Given the description of an element on the screen output the (x, y) to click on. 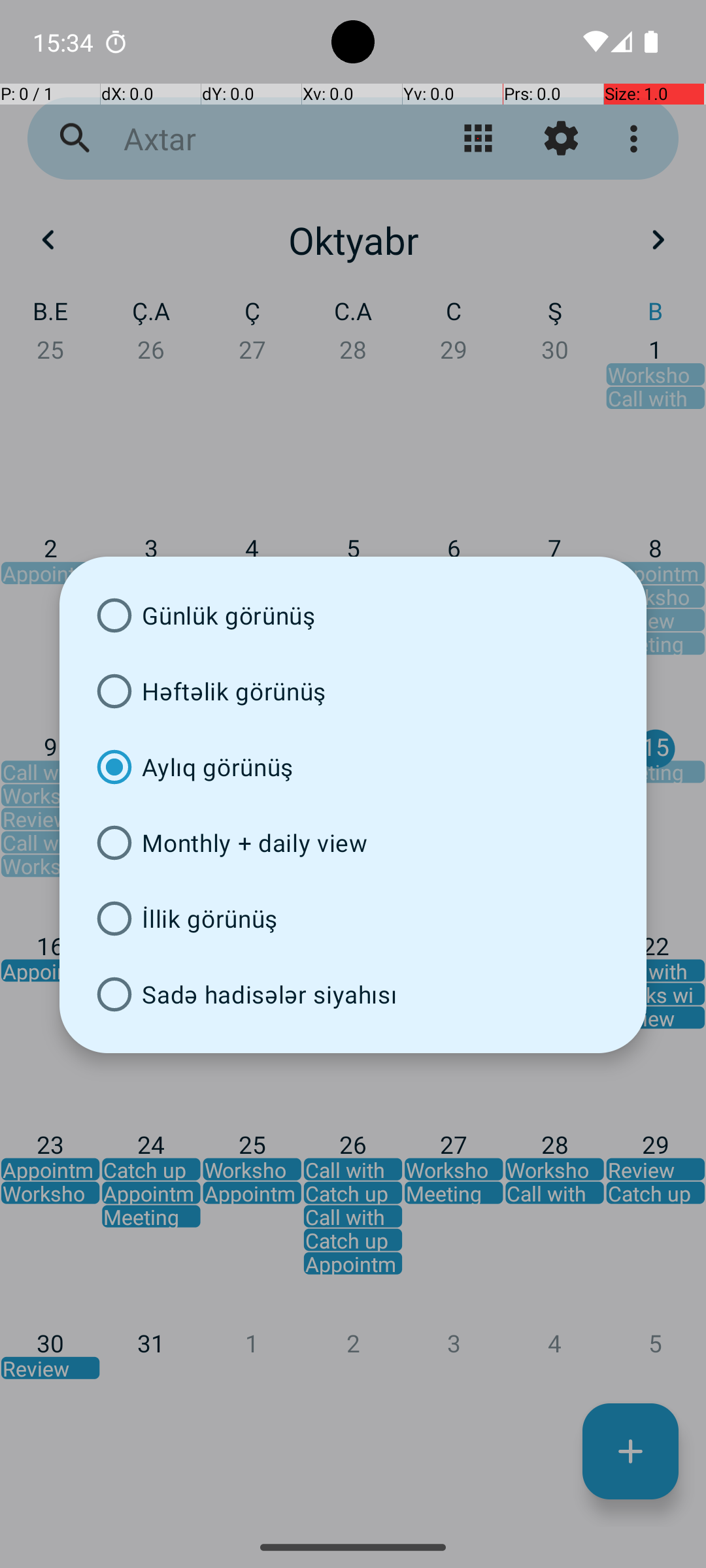
Günlük görünüş Element type: android.widget.RadioButton (352, 615)
Həftəlik görünüş Element type: android.widget.RadioButton (352, 691)
Aylıq görünüş Element type: android.widget.RadioButton (352, 766)
Monthly + daily view Element type: android.widget.RadioButton (352, 842)
İllik görünüş Element type: android.widget.RadioButton (352, 918)
Sadə hadisələr siyahısı Element type: android.widget.RadioButton (352, 994)
